Given the description of an element on the screen output the (x, y) to click on. 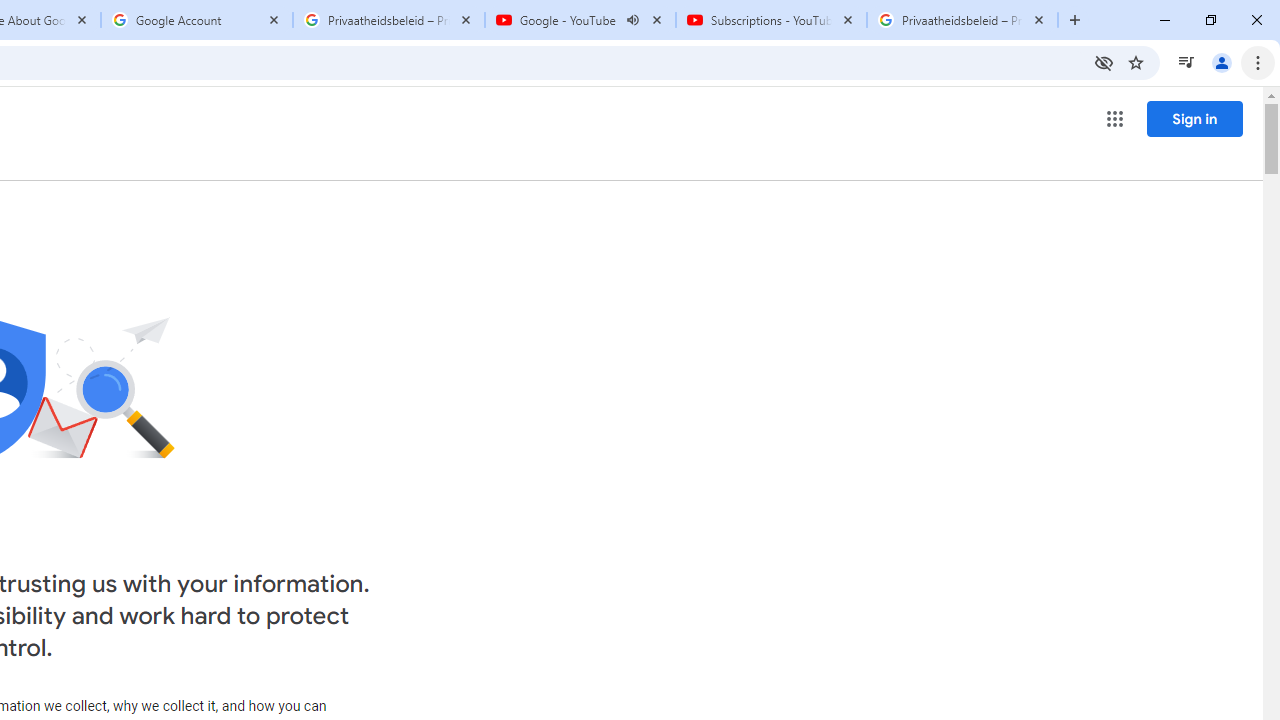
Mute tab (632, 20)
